Given the description of an element on the screen output the (x, y) to click on. 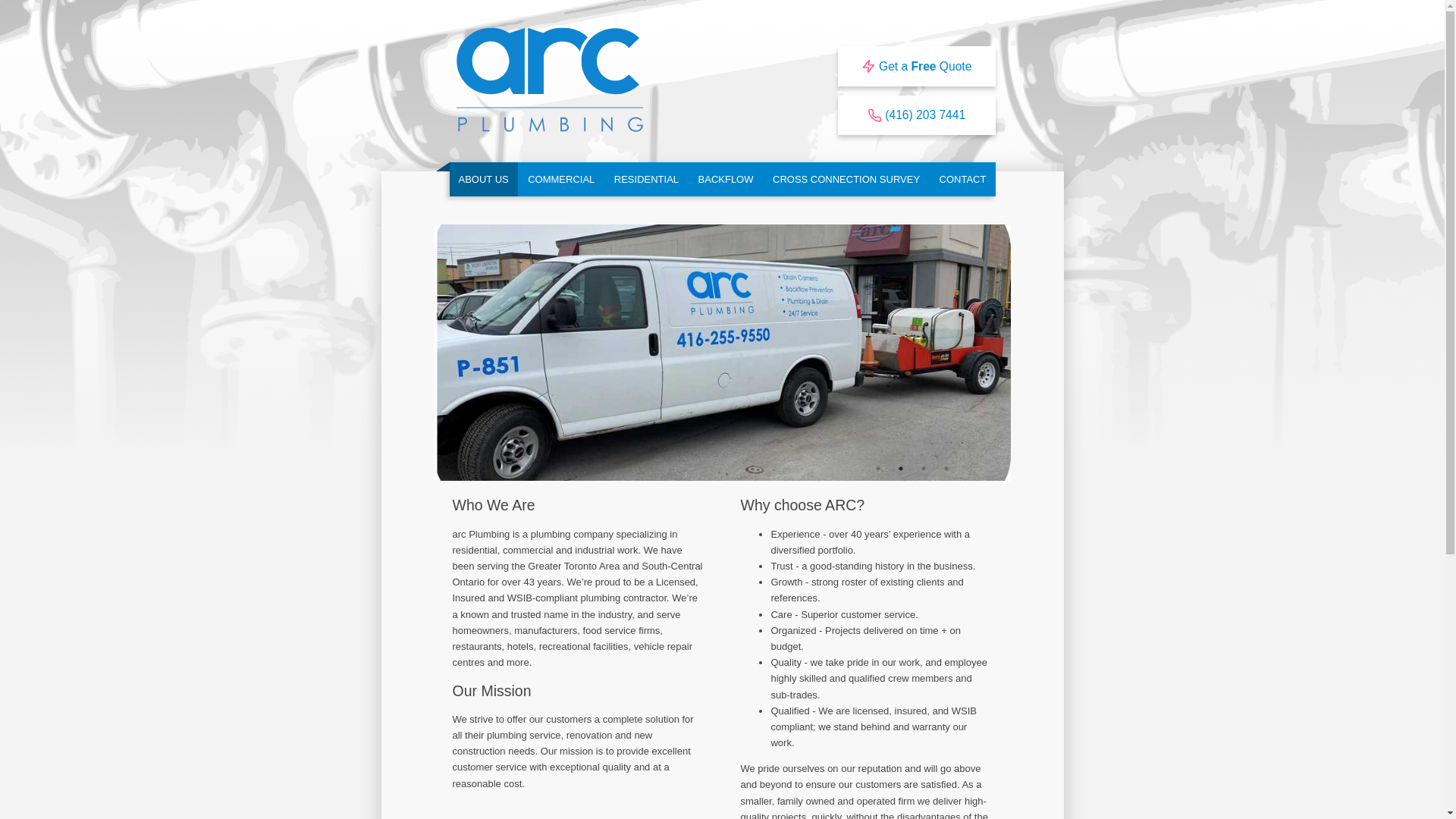
3 Element type: text (923, 468)
(416) 203 7441 Element type: text (916, 114)
Get a Free Quote Element type: text (916, 65)
2 Element type: text (900, 468)
BACKFLOW Element type: text (725, 179)
4 Element type: text (945, 468)
CONTACT Element type: text (962, 179)
1 Element type: text (877, 468)
CROSS CONNECTION SURVEY Element type: text (845, 179)
COMMERCIAL Element type: text (560, 179)
RESIDENTIAL Element type: text (646, 179)
ABOUT US Element type: text (482, 179)
